Given the description of an element on the screen output the (x, y) to click on. 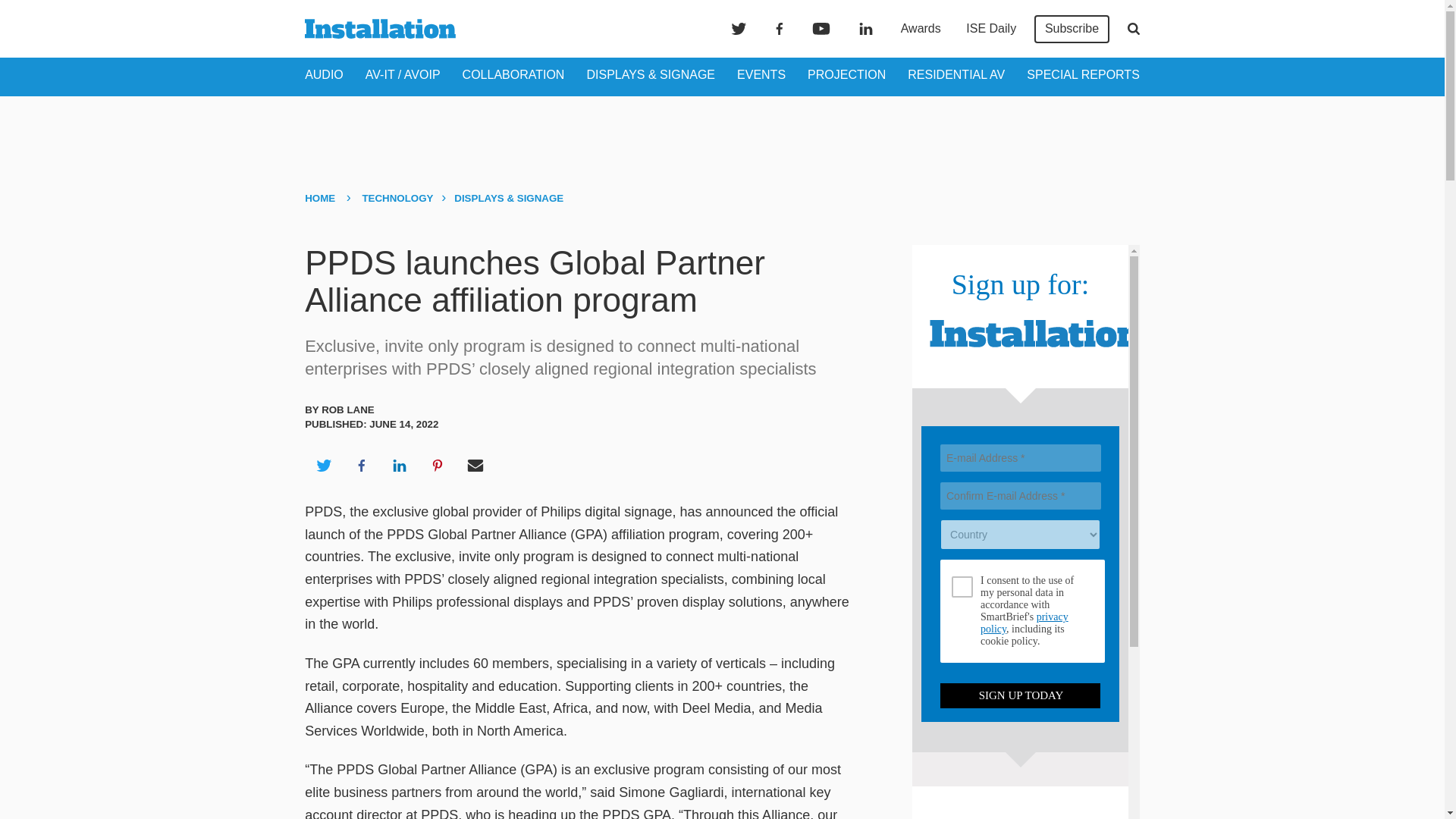
Subscribe (1071, 29)
Rob Lane's Author Profile (347, 409)
Share via Email (476, 465)
COLLABORATION (513, 74)
Share on Pinterest (438, 465)
ISE Daily (990, 29)
Share on LinkedIn (399, 465)
Awards (921, 29)
Share on Facebook (361, 465)
AUDIO (323, 74)
Share on Twitter (323, 465)
